Given the description of an element on the screen output the (x, y) to click on. 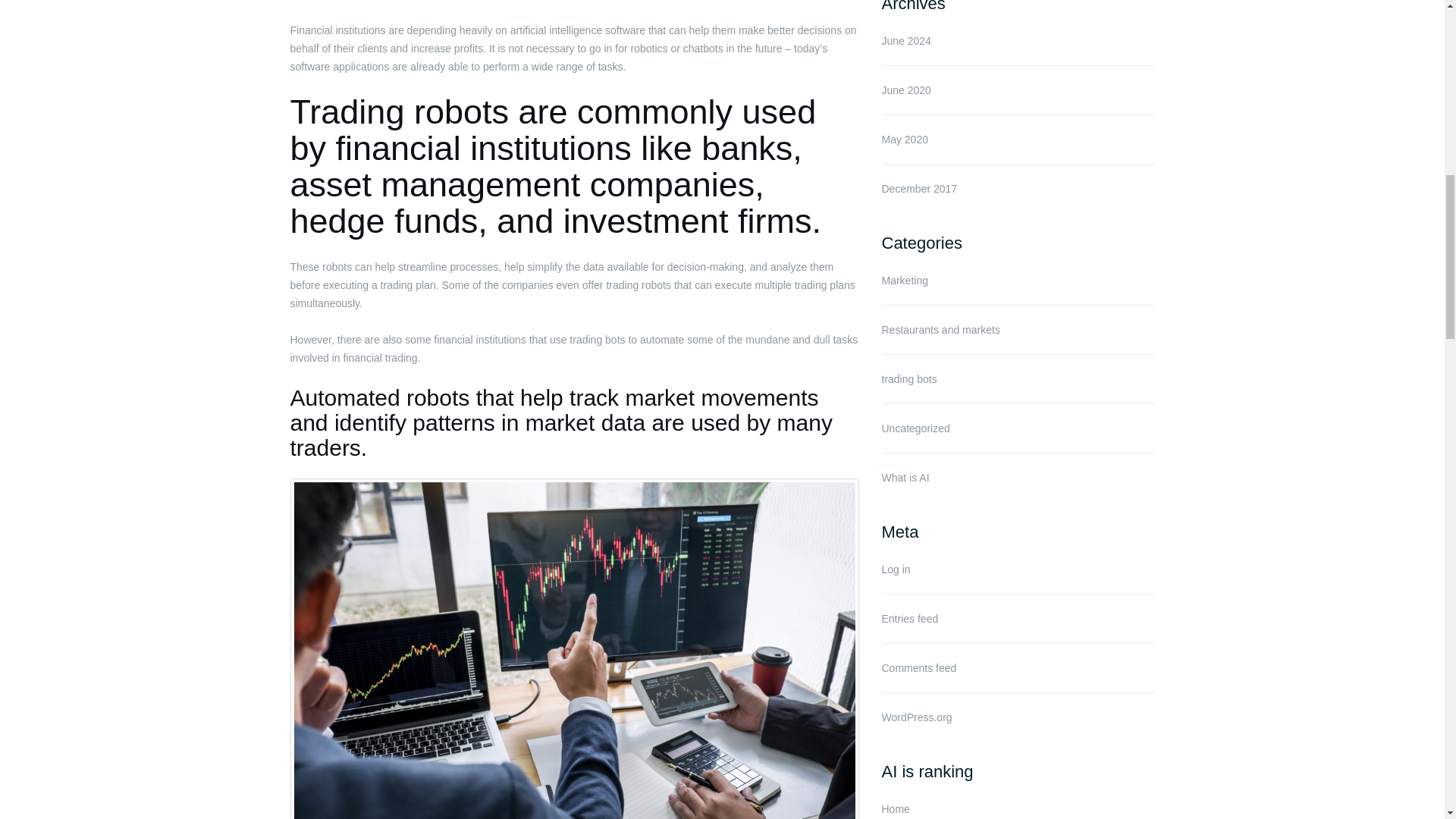
May 2020 (903, 139)
December 2017 (918, 188)
Home (894, 808)
Marketing (903, 280)
What is AI (904, 477)
June 2024 (905, 40)
Log in (895, 569)
Entries feed (908, 618)
June 2020 (905, 90)
Uncategorized (914, 428)
